Given the description of an element on the screen output the (x, y) to click on. 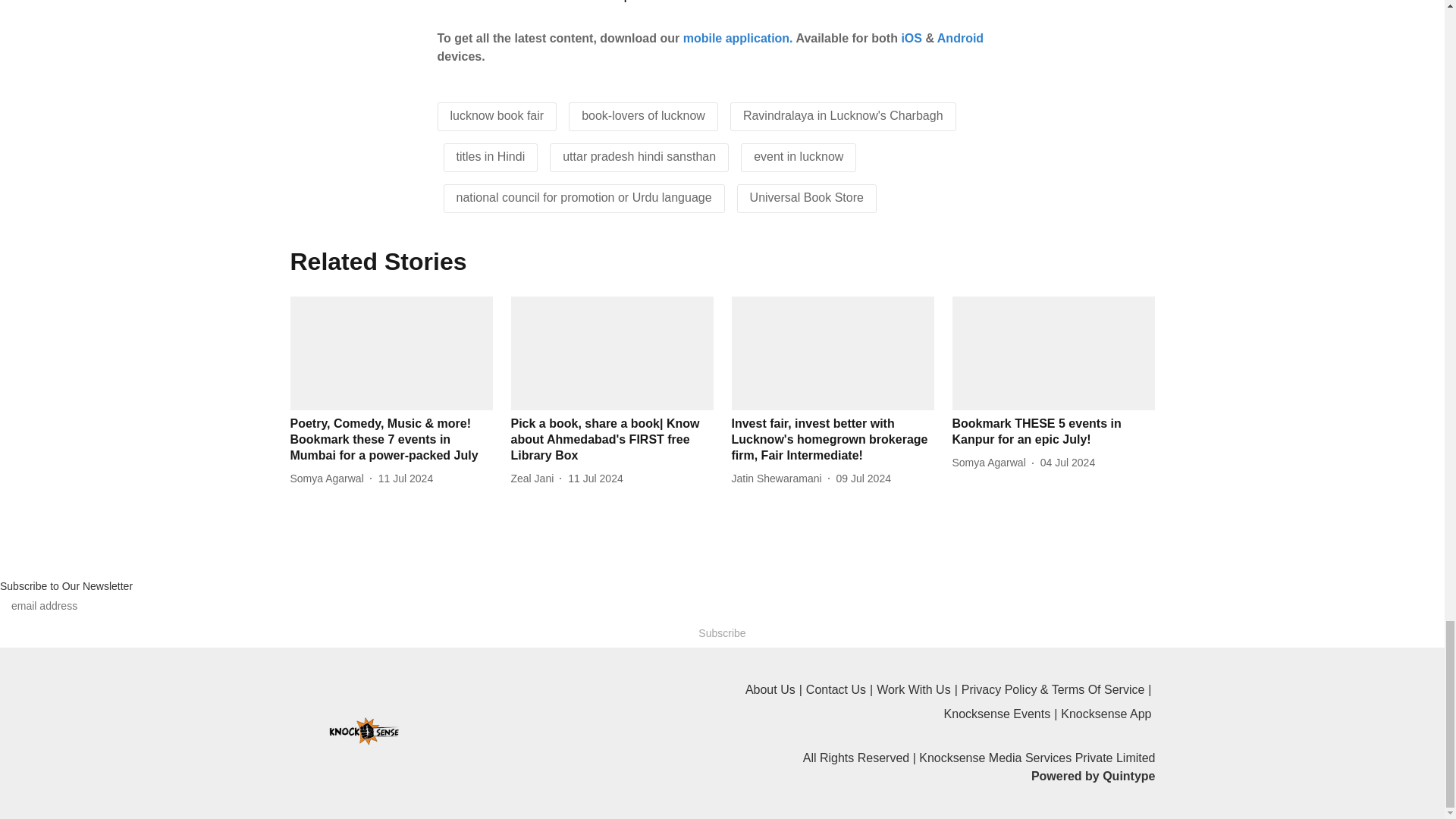
2024-07-09 08:14 (863, 478)
Zeal Jani (535, 478)
mobile application. (737, 38)
iOS (911, 38)
event in lucknow (798, 155)
Universal Book Store (806, 196)
Android (960, 38)
uttar pradesh hindi sansthan (639, 155)
titles in Hindi (491, 155)
book-lovers of lucknow (642, 115)
2024-07-11 10:49 (405, 478)
Ravindralaya in Lucknow's Charbagh (842, 115)
2024-07-11 09:20 (595, 478)
lucknow book fair (496, 115)
national council for promotion or Urdu language (584, 196)
